Given the description of an element on the screen output the (x, y) to click on. 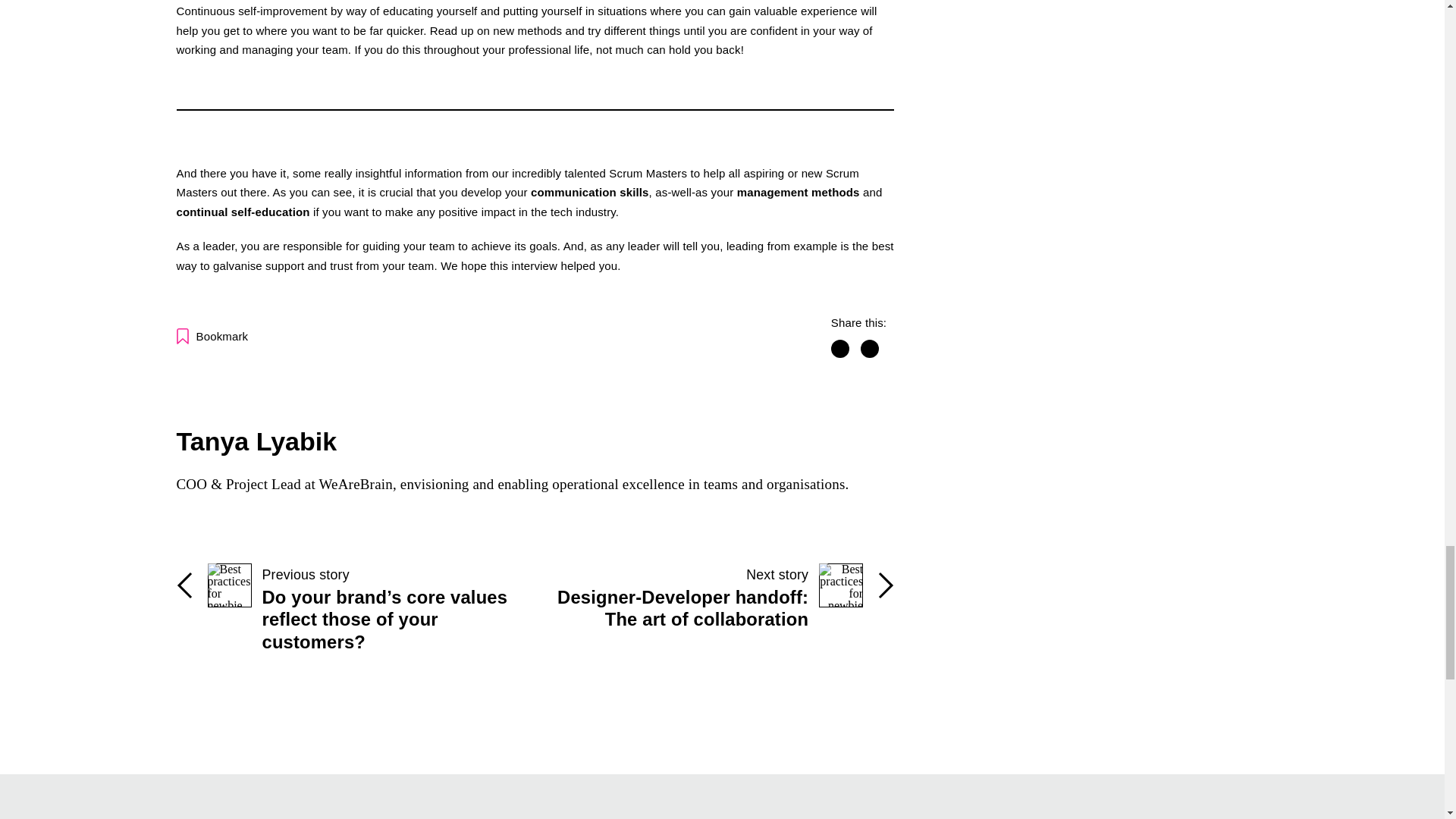
Designer-Developer handoff: The art of collaboration (714, 616)
Click to share on Facebook (839, 348)
Click to share on X (869, 348)
